Given the description of an element on the screen output the (x, y) to click on. 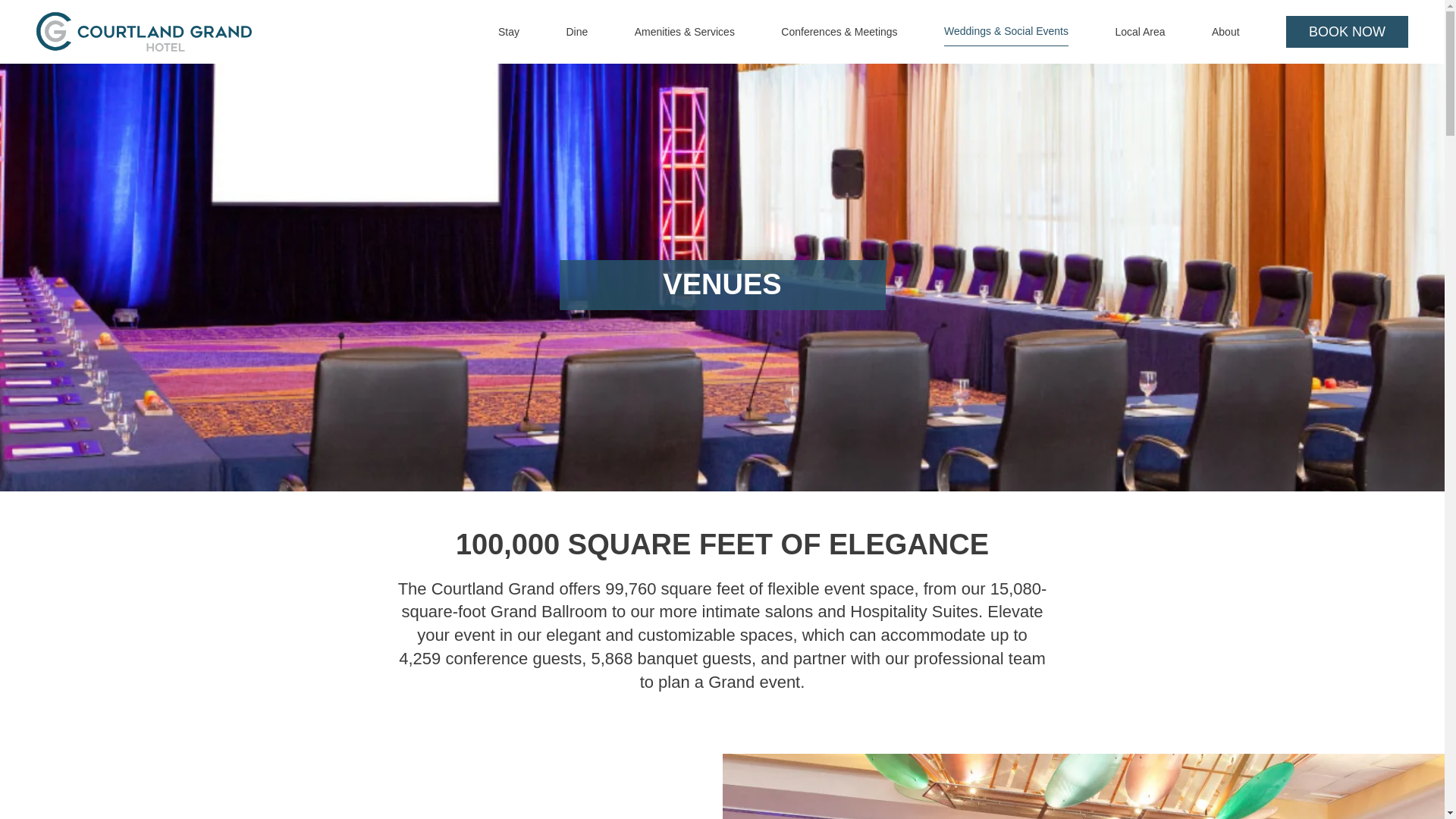
Local Area (1139, 31)
BOOK NOW (1346, 31)
About (1225, 31)
